Given the description of an element on the screen output the (x, y) to click on. 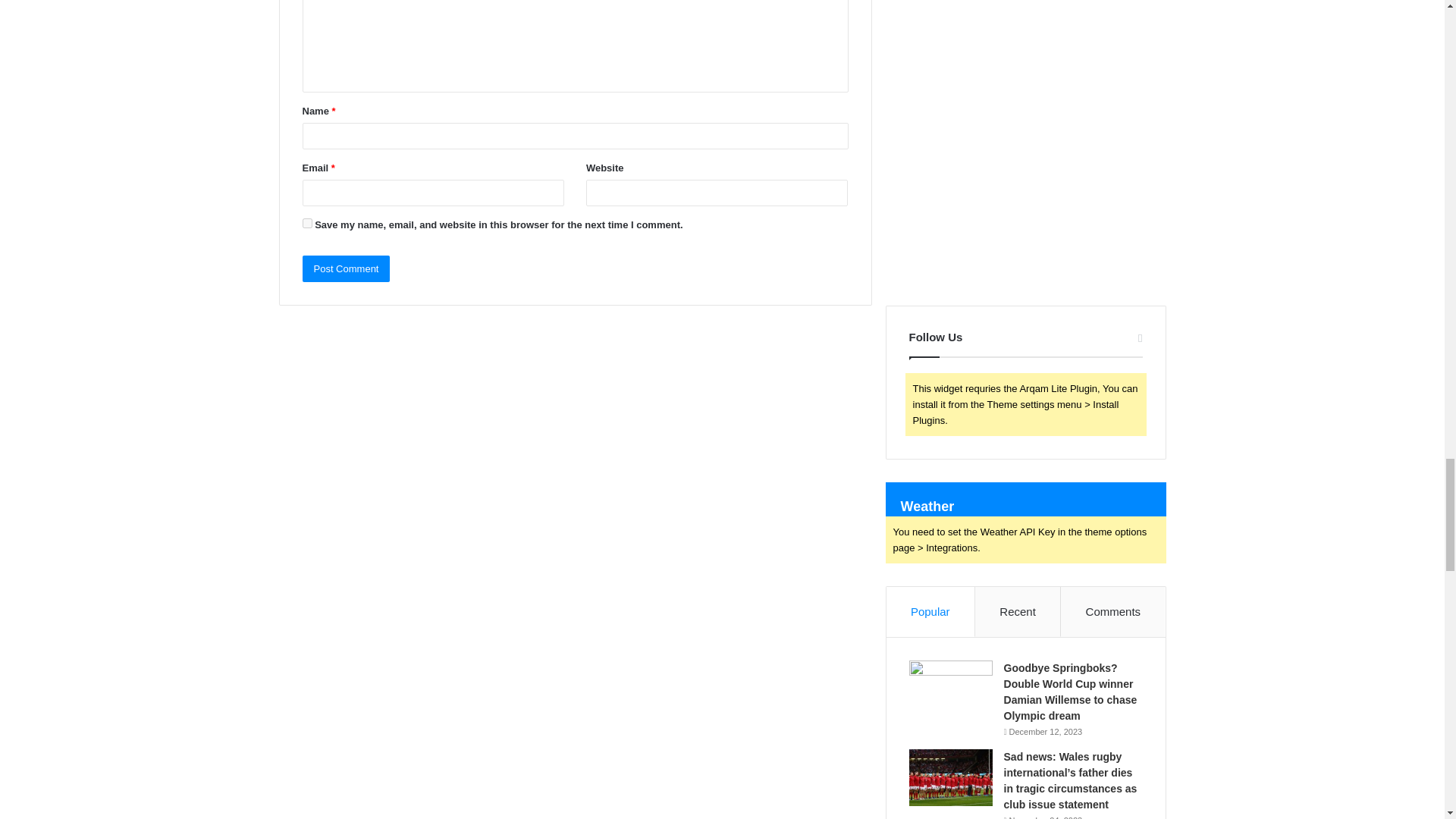
Post Comment (345, 268)
yes (306, 223)
